Given the description of an element on the screen output the (x, y) to click on. 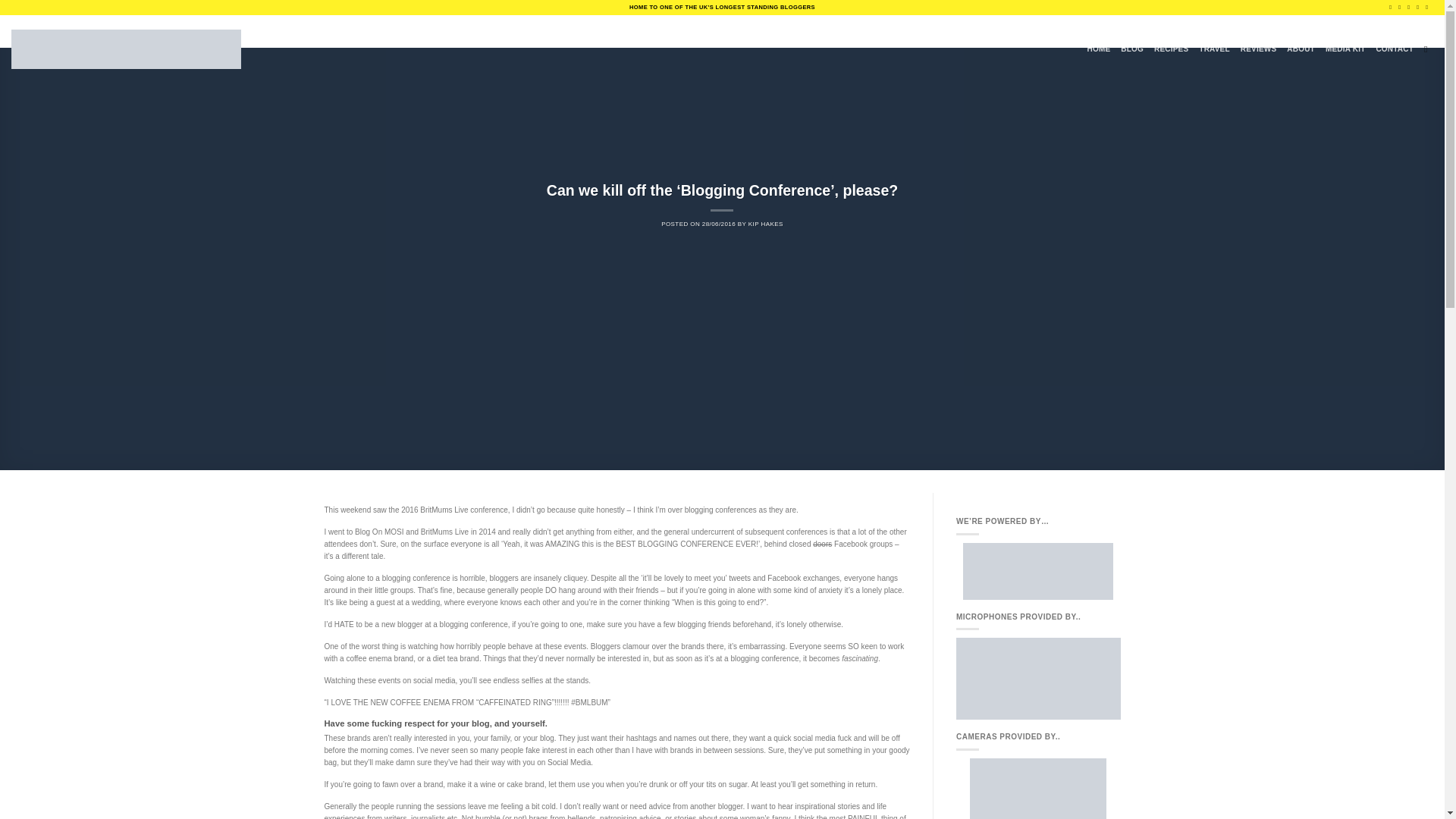
CONTACT (1394, 49)
KIP HAKES (765, 223)
REVIEWS (1258, 49)
MEDIA KIT (1344, 49)
ABOUT (1300, 49)
RECIPES (1171, 49)
TRAVEL (1213, 49)
